Given the description of an element on the screen output the (x, y) to click on. 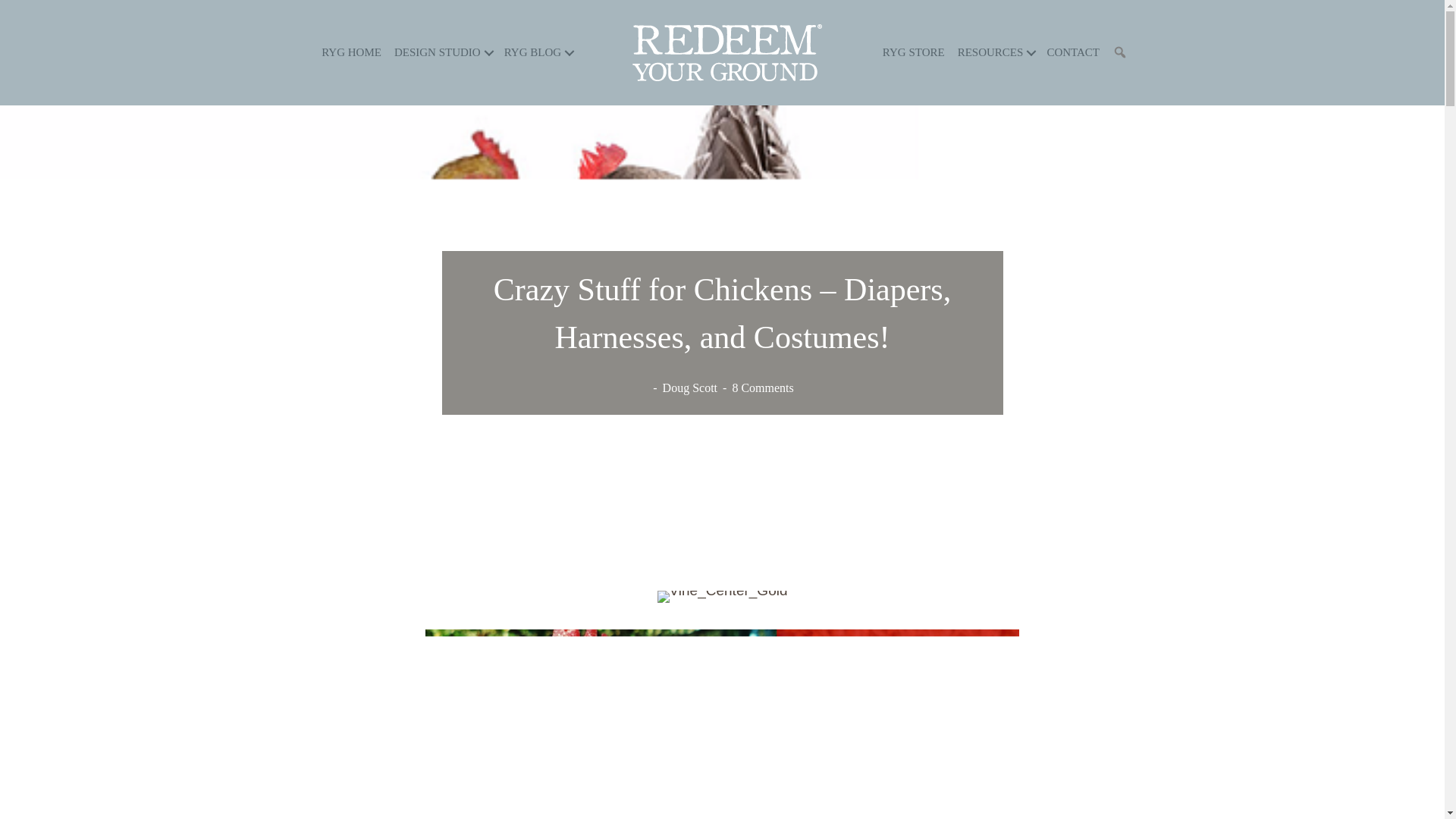
RYG STORE (913, 52)
RYG BLOG (537, 52)
RYG HOME (351, 52)
RESOURCES (996, 52)
DESIGN STUDIO (442, 52)
SEARCH (1123, 52)
CONTACT (1073, 52)
